Given the description of an element on the screen output the (x, y) to click on. 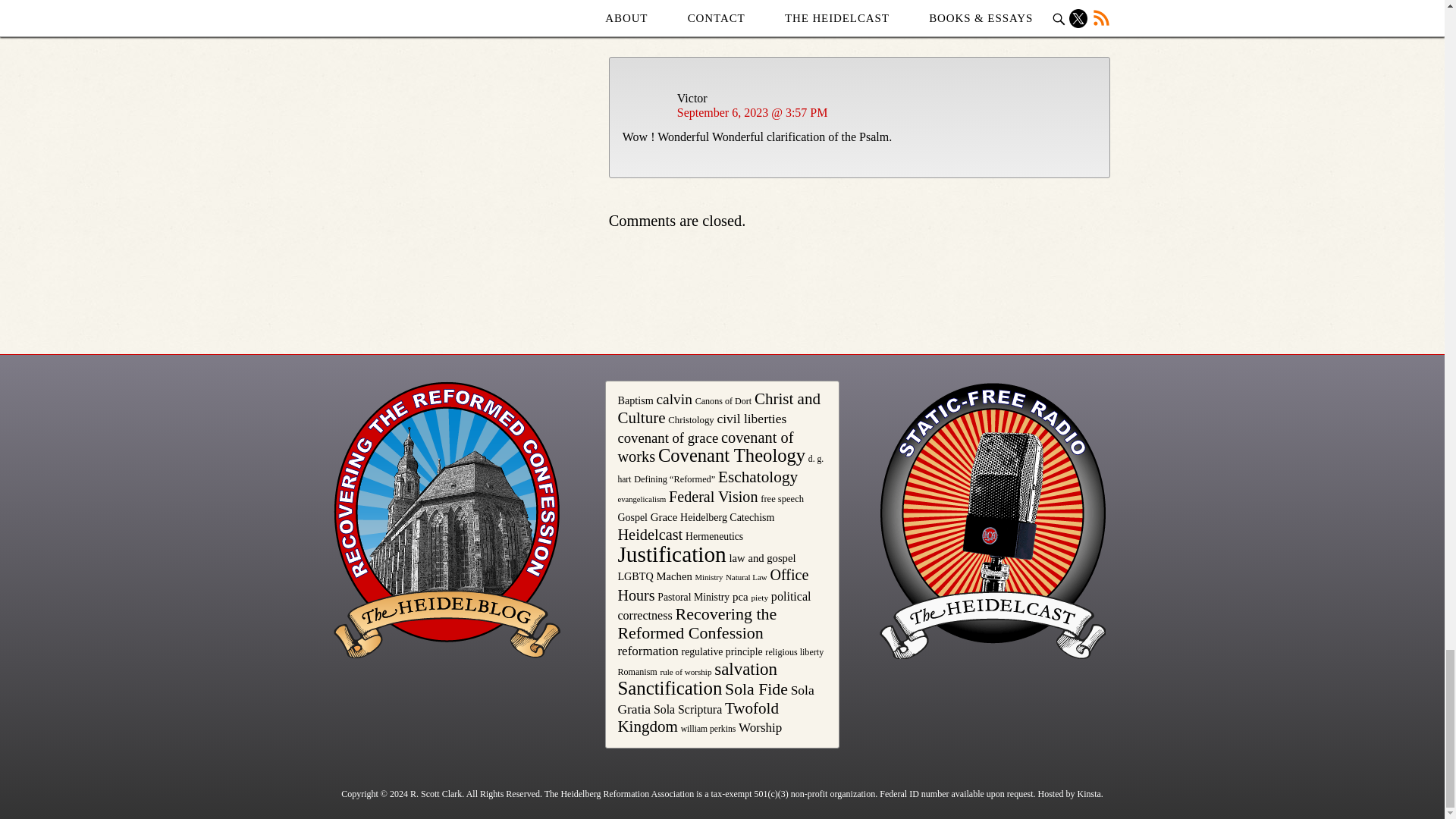
The Heidelblog (446, 519)
